Given the description of an element on the screen output the (x, y) to click on. 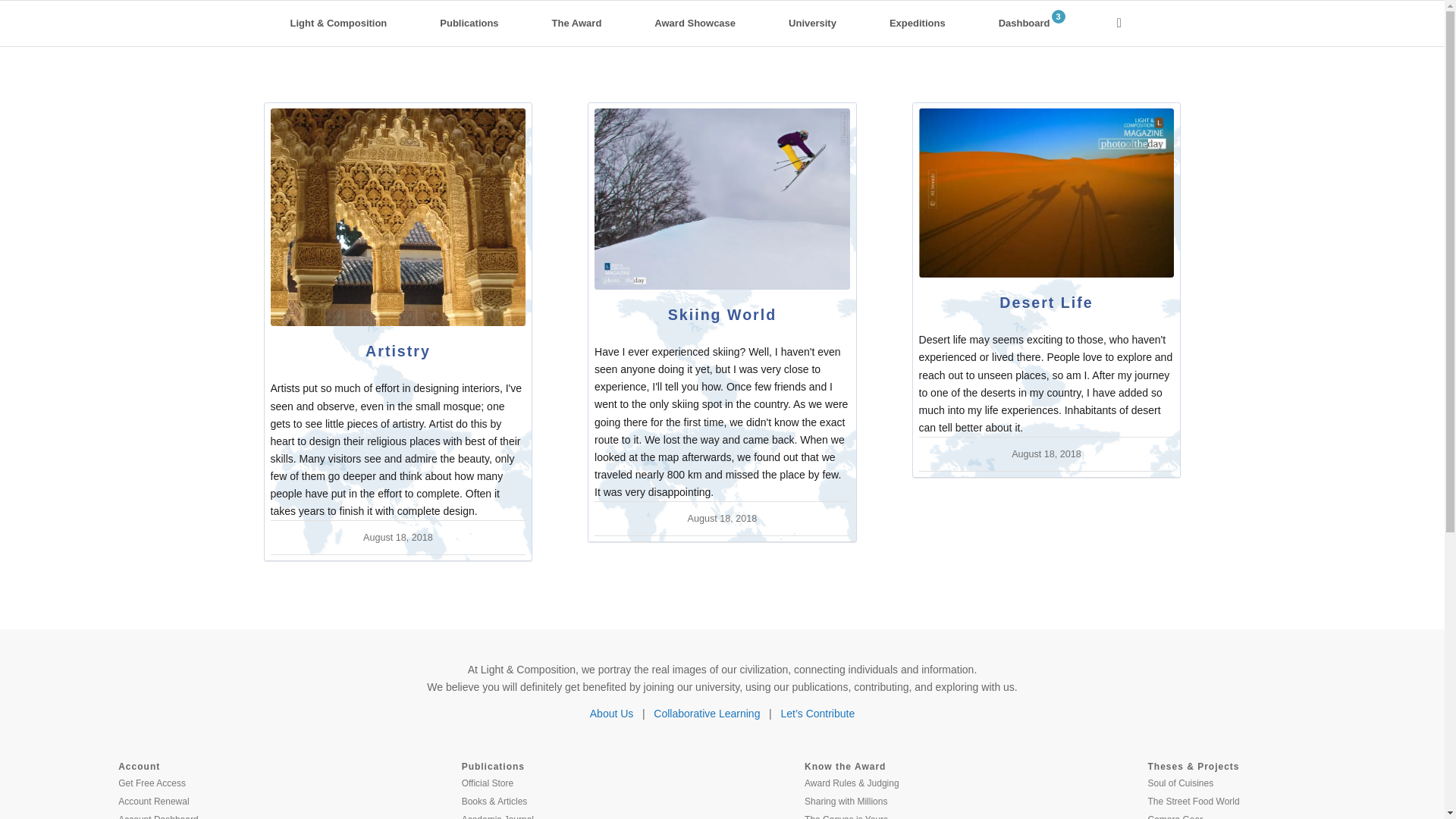
Skiing World (722, 198)
Desert Life (1045, 302)
Account Dashboard (157, 815)
Artistry (397, 351)
Desert Life (1046, 192)
Artistry (397, 351)
Get Free Access (151, 783)
Dashboard (1031, 22)
Skiing World (722, 314)
About Us (611, 713)
